Given the description of an element on the screen output the (x, y) to click on. 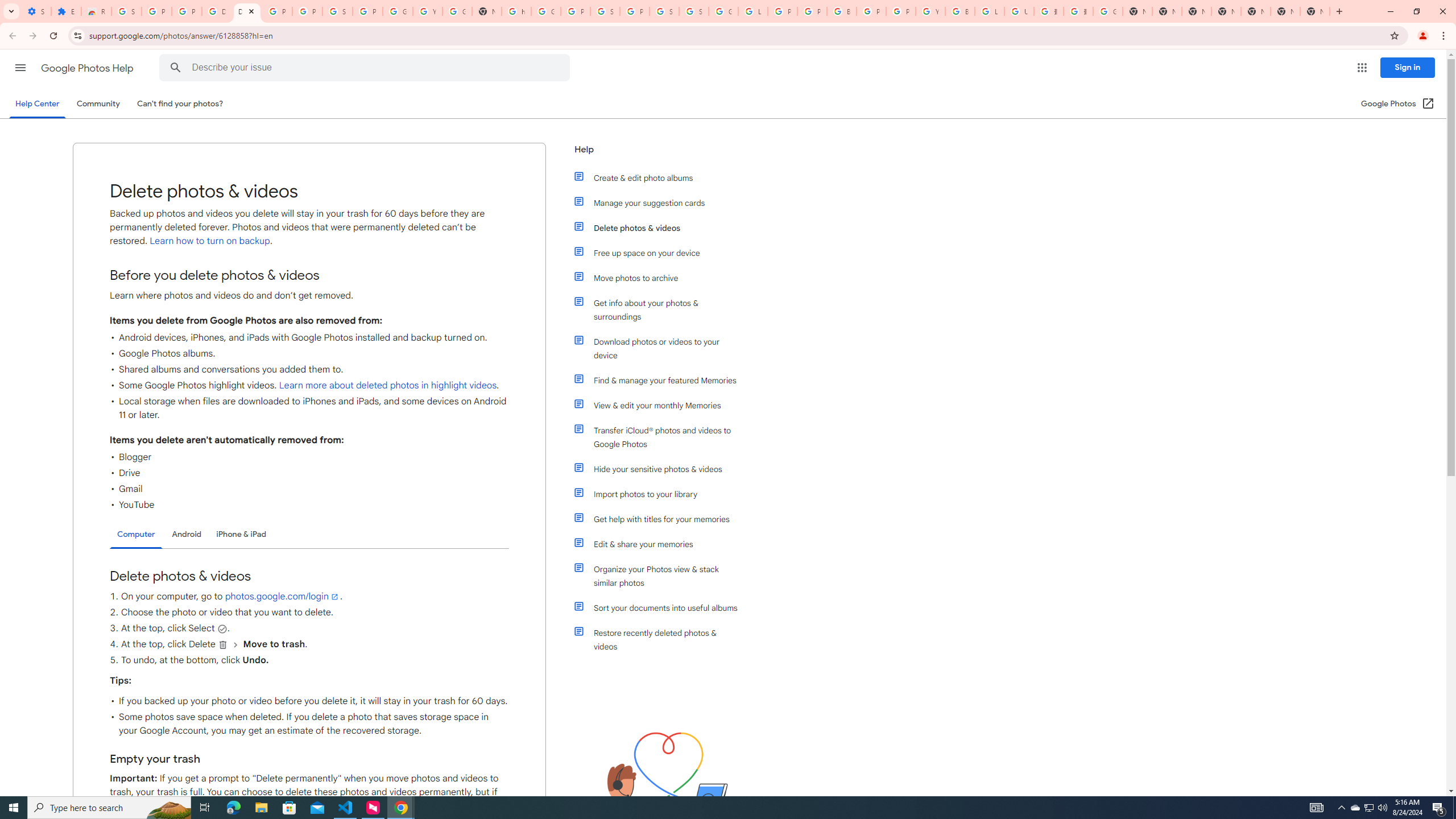
YouTube (426, 11)
and then (235, 644)
Describe your issue (366, 67)
Move photos to archive (661, 277)
Sign in - Google Accounts (604, 11)
Google Photos (Open in a new window) (1397, 103)
Find & manage your featured Memories (661, 380)
Delete photos & videos - Computer - Google Photos Help (216, 11)
